Given the description of an element on the screen output the (x, y) to click on. 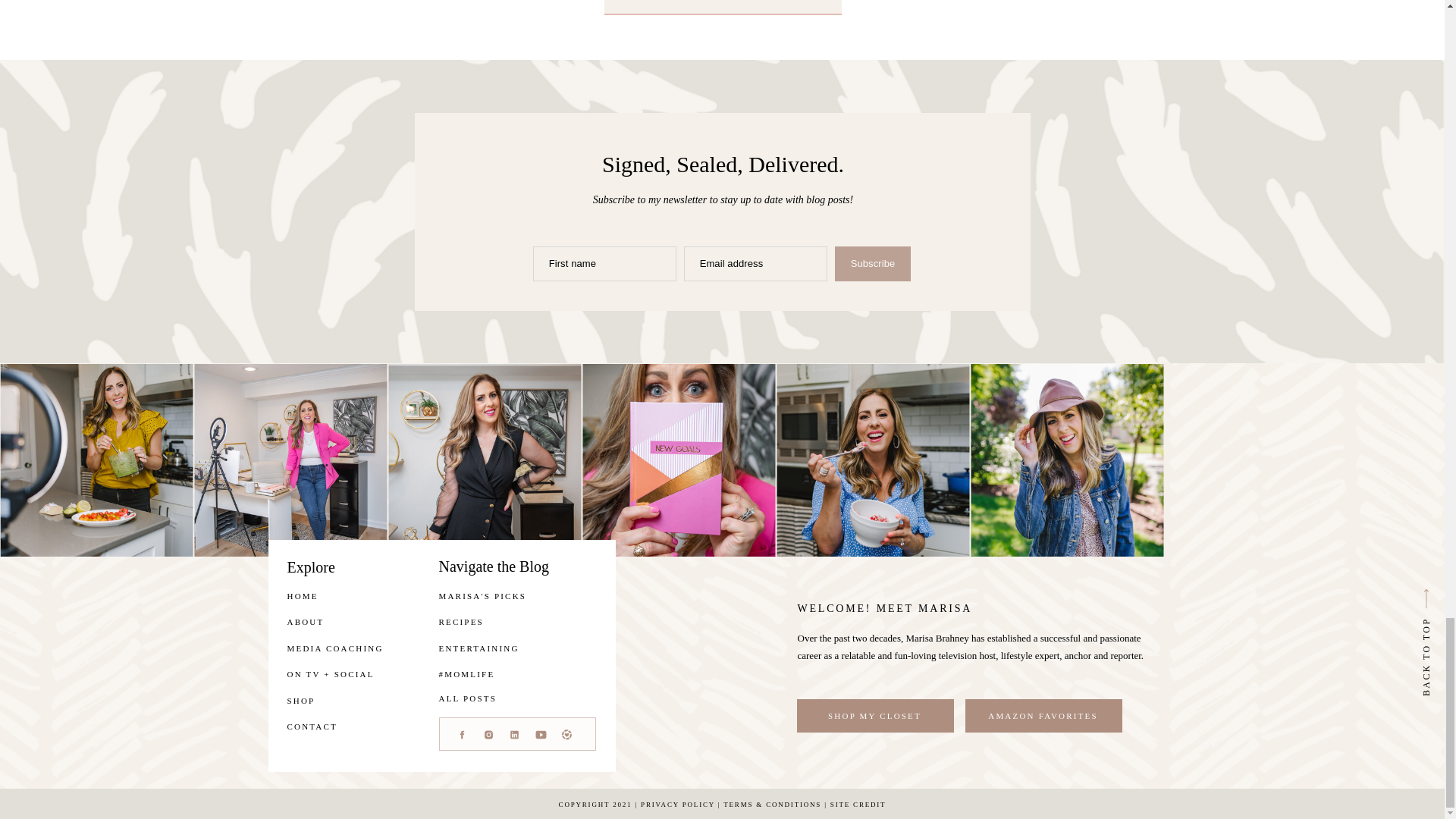
LaurenAnzevinoLLC-52 (1067, 459)
LaurenAnzevinoLLC-40 (872, 459)
LaurenAnzevinoLLC-16 (96, 459)
